Given the description of an element on the screen output the (x, y) to click on. 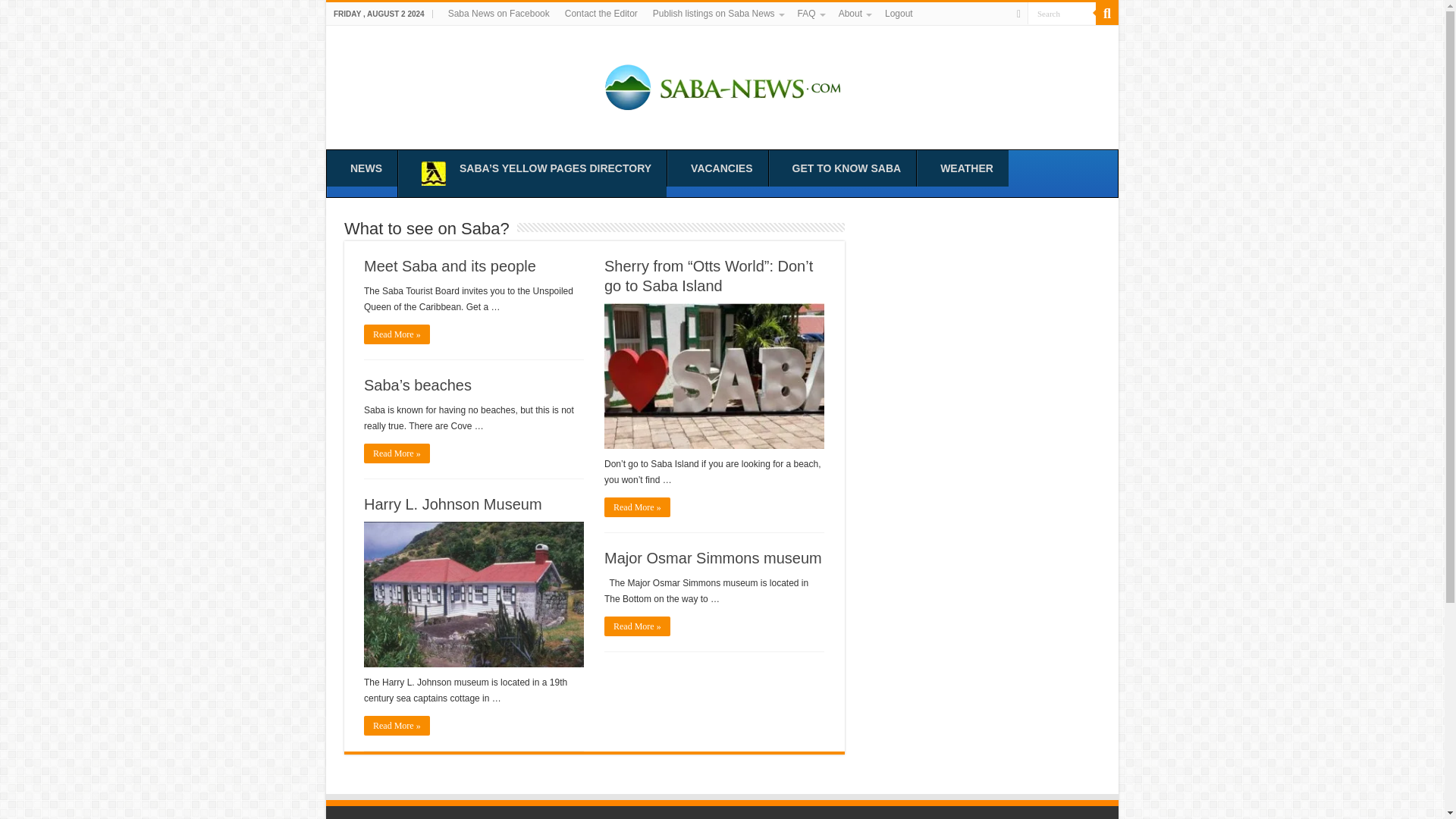
Publish listings on Saba News (717, 13)
About (854, 13)
Search (1061, 13)
FAQ (810, 13)
Logout (898, 13)
Saba News on Facebook (499, 13)
Search (1061, 13)
Saba News (722, 84)
Contact the Editor (601, 13)
Search (1061, 13)
